Given the description of an element on the screen output the (x, y) to click on. 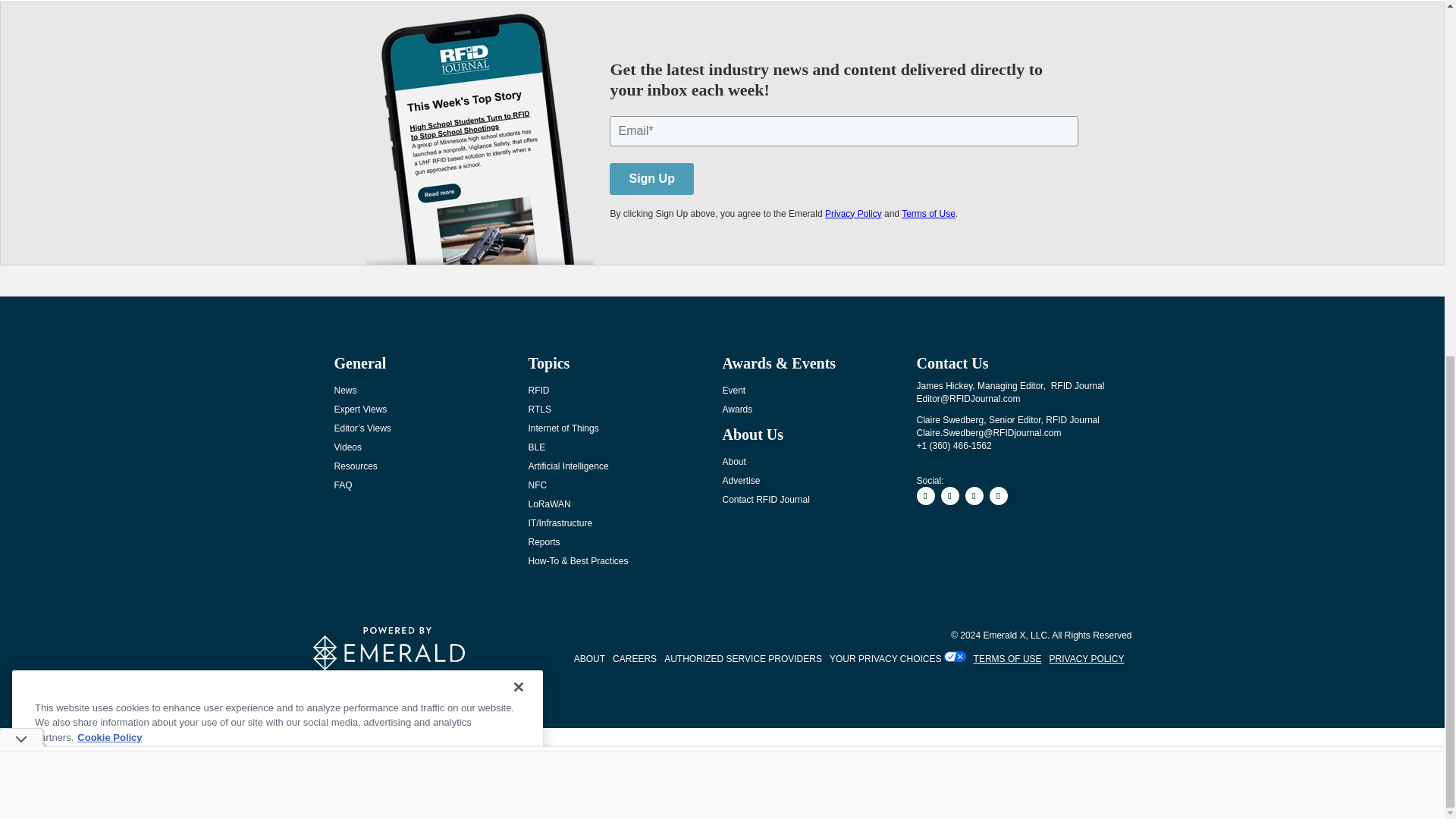
Follow on X (972, 495)
Follow on LinkedIn (949, 495)
Follow on Facebook (924, 495)
Follow on Youtube (997, 495)
